Given the description of an element on the screen output the (x, y) to click on. 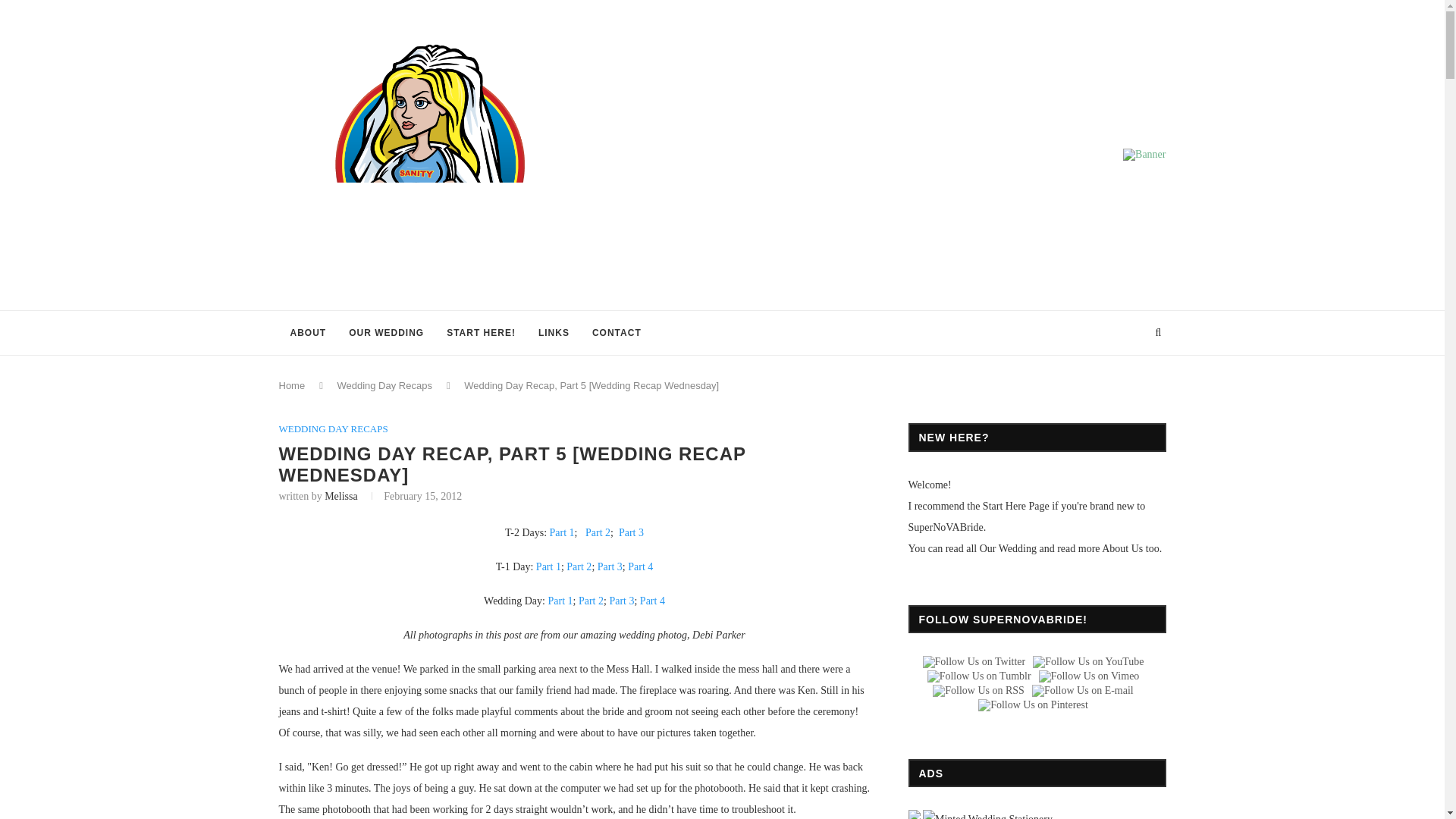
START HERE! (481, 332)
Part 3 (609, 566)
Home (292, 385)
Part 2 (591, 600)
Part 1 (559, 600)
Part 1 (547, 566)
Part 2 (597, 532)
Part 4 (639, 566)
OUR WEDDING (386, 332)
Part 3 (630, 532)
Part 2 (578, 566)
Part 3 (620, 600)
Part 4 (652, 600)
LINKS (553, 332)
Part 1 (562, 532)
